Given the description of an element on the screen output the (x, y) to click on. 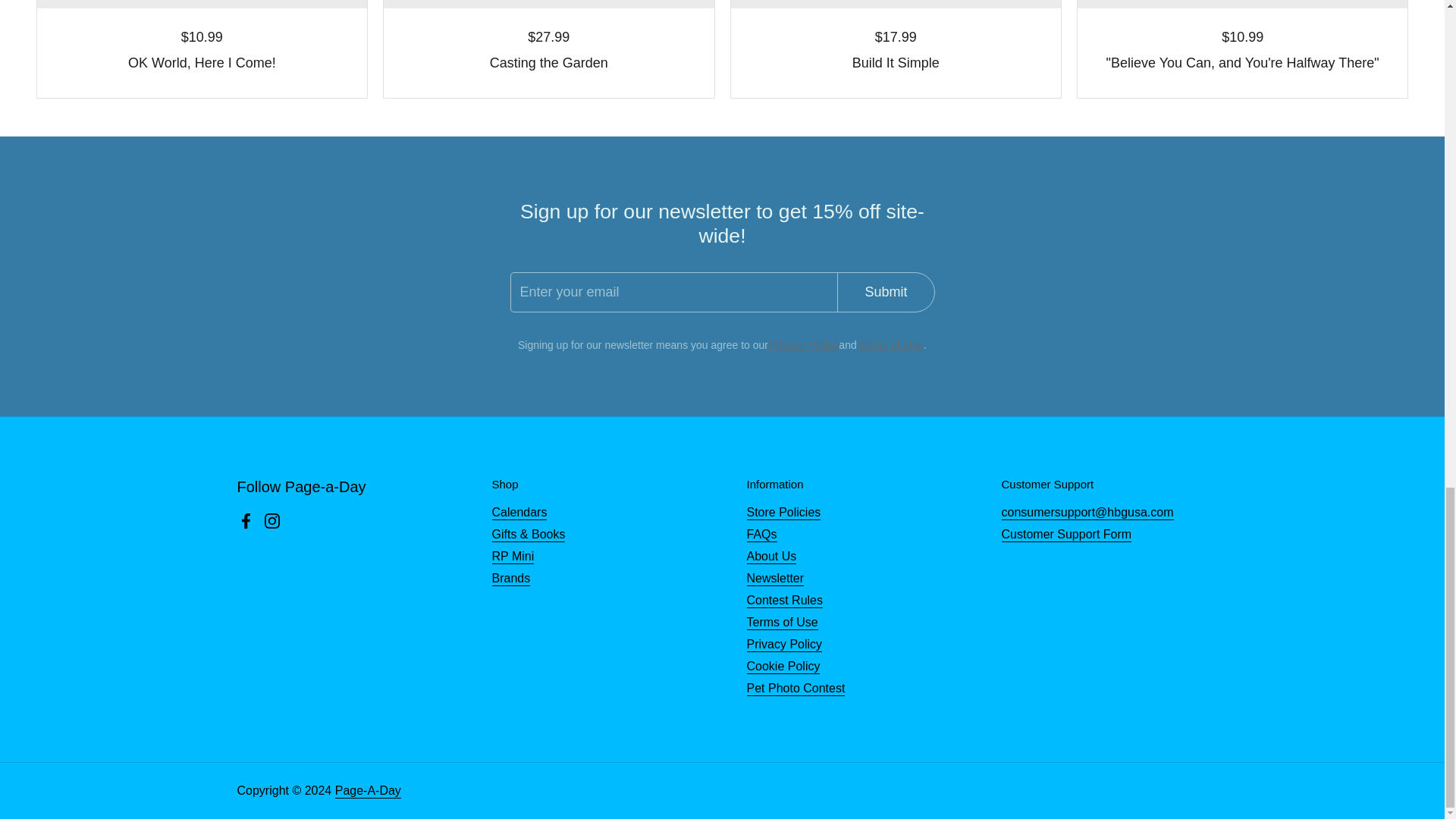
Casting the Garden (548, 63)
"Believe You Can, and You're Halfway There" (1242, 63)
OK World, Here I Come! (201, 63)
Build It Simple (895, 63)
